Given the description of an element on the screen output the (x, y) to click on. 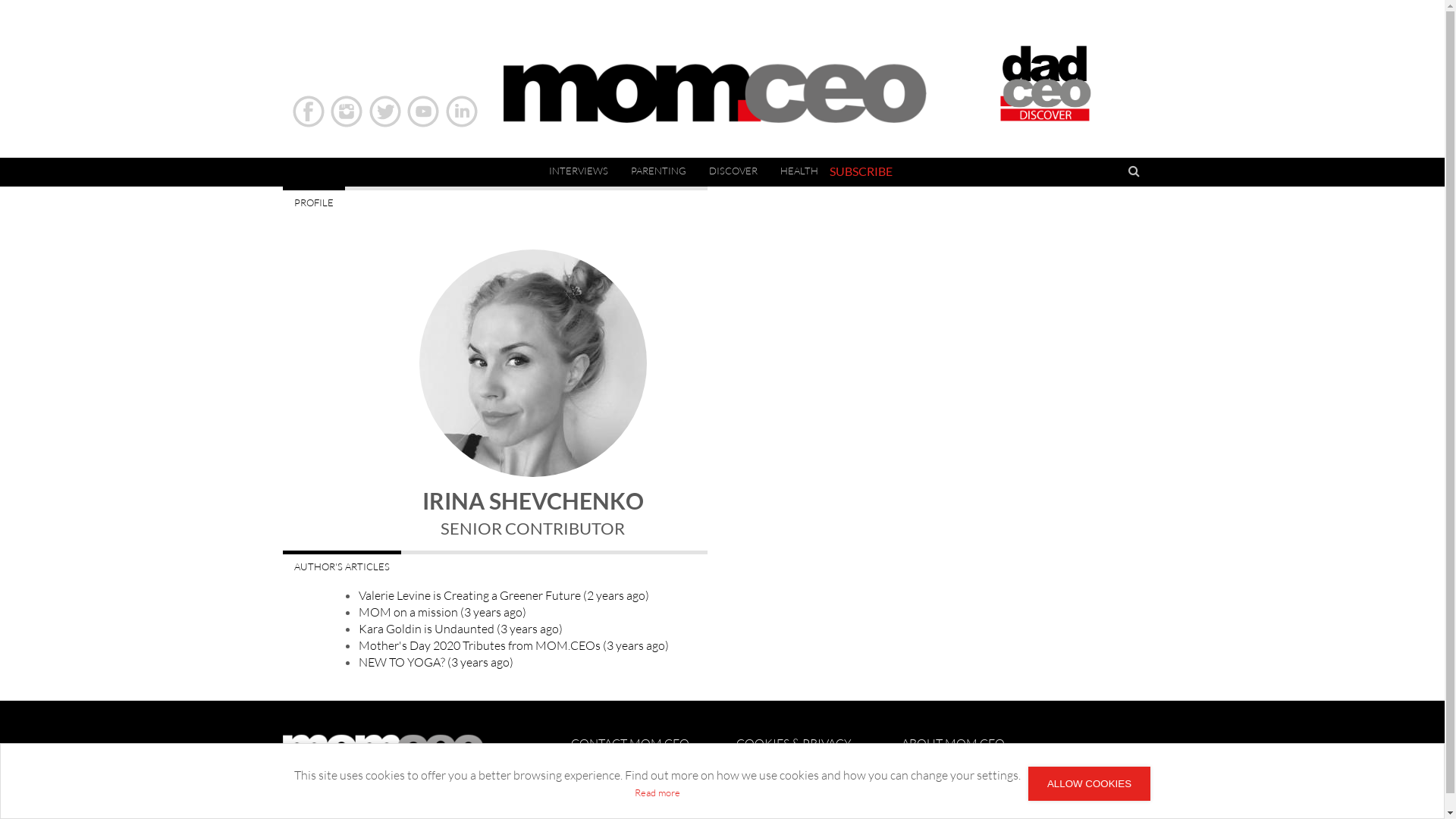
PROFILE Element type: text (313, 200)
DISCOVER Element type: text (732, 170)
Valerie Levine is Creating a Greener Future (2 years ago) Element type: text (502, 594)
Read more Element type: text (657, 792)
AUTHOR'S ARTICLES Element type: text (341, 564)
Mother's Day 2020 Tributes from MOM.CEOs (3 years ago) Element type: text (512, 644)
COOKIES & PRIVACY Element type: text (793, 743)
MOM on a mission (3 years ago) Element type: text (441, 611)
SUBSCRIBE Element type: text (860, 170)
ALLOW COOKIES Element type: text (1089, 783)
ABOUT MOM.CEO Element type: text (952, 743)
PARENTING Element type: text (657, 170)
HEALTH Element type: text (798, 170)
NEW TO YOGA? (3 years ago) Element type: text (434, 661)
CONTACT MOM.CEO Element type: text (629, 743)
INTERVIEWS Element type: text (577, 170)
Submit Element type: text (1088, 172)
Kara Goldin is Undaunted (3 years ago) Element type: text (459, 628)
